Given the description of an element on the screen output the (x, y) to click on. 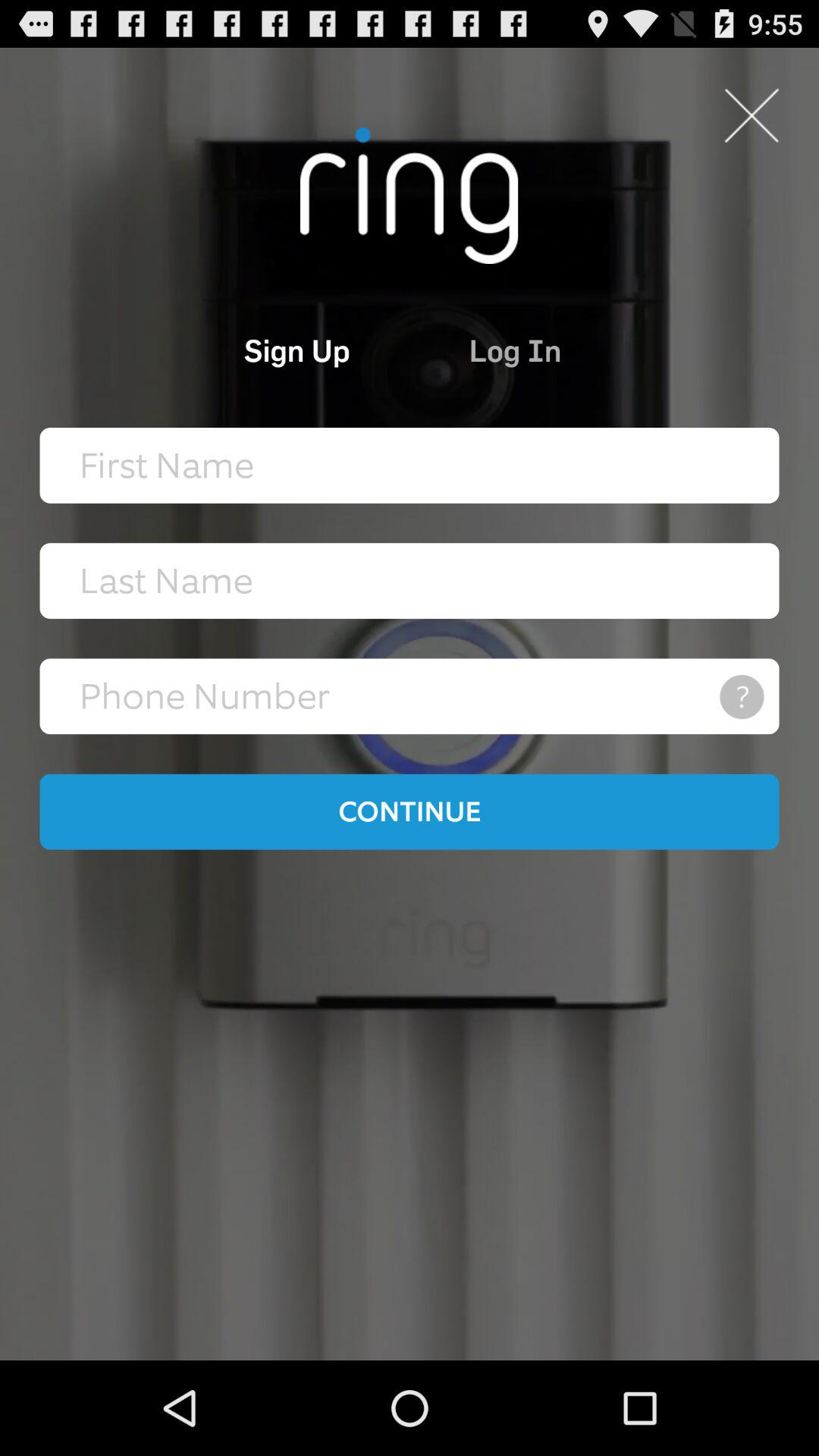
flip to the log in icon (584, 349)
